Given the description of an element on the screen output the (x, y) to click on. 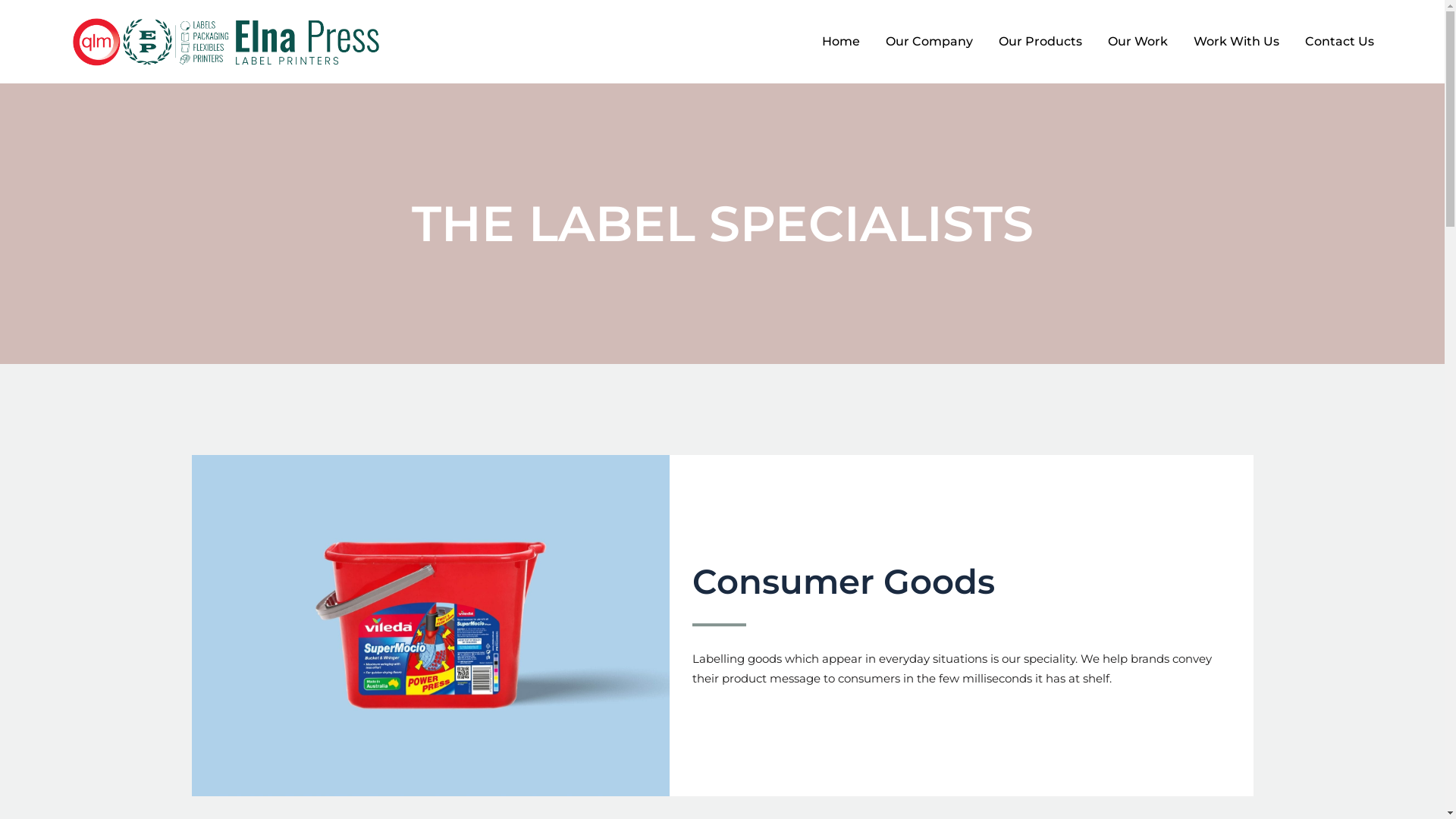
Our Work Element type: text (1137, 41)
Our Company Element type: text (928, 41)
Home Element type: text (840, 41)
Our Products Element type: text (1040, 41)
Contact Us Element type: text (1339, 41)
Work With Us Element type: text (1236, 41)
